Given the description of an element on the screen output the (x, y) to click on. 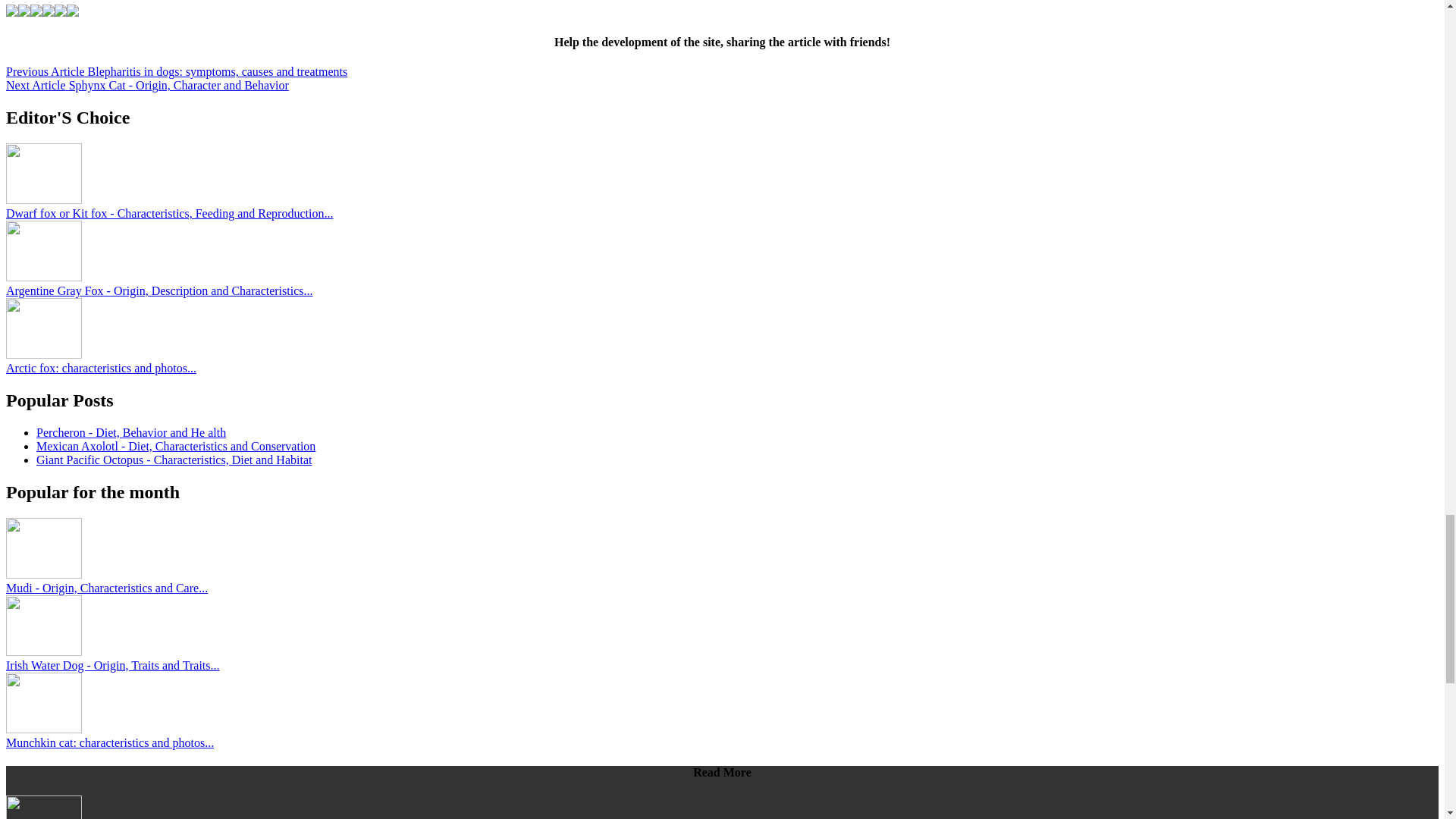
Mexican Axolotl - Diet, Characteristics and Conservation (175, 445)
Arctic fox: characteristics and photos... (100, 367)
Next Article Sphynx Cat - Origin, Character and Behavior (146, 84)
Giant Pacific Octopus - Characteristics, Diet and Habitat (173, 459)
Percheron - Diet, Behavior and He alth (130, 431)
Mudi - Origin, Characteristics and Care... (106, 587)
